Given the description of an element on the screen output the (x, y) to click on. 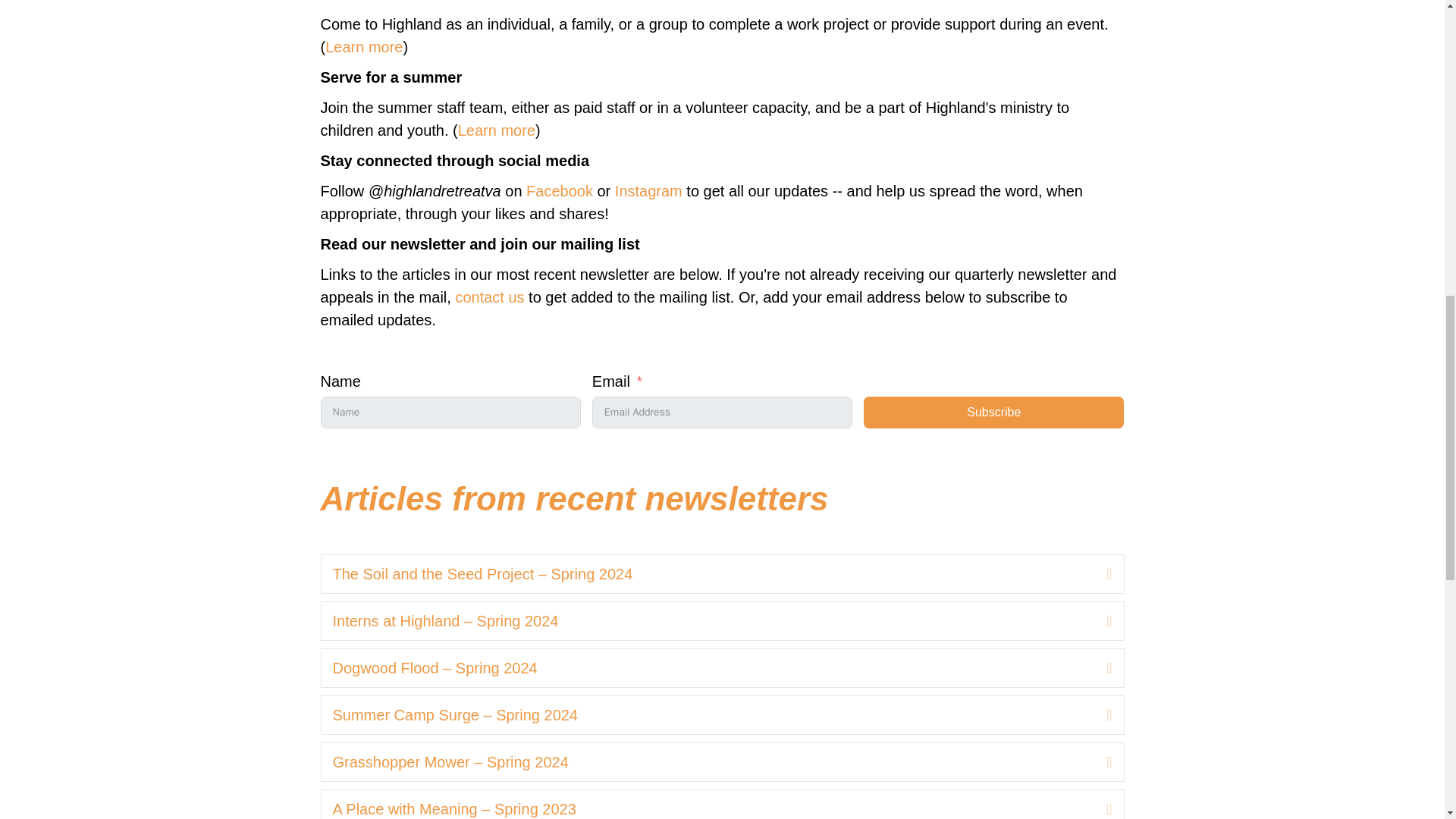
Learn more (363, 46)
